Given the description of an element on the screen output the (x, y) to click on. 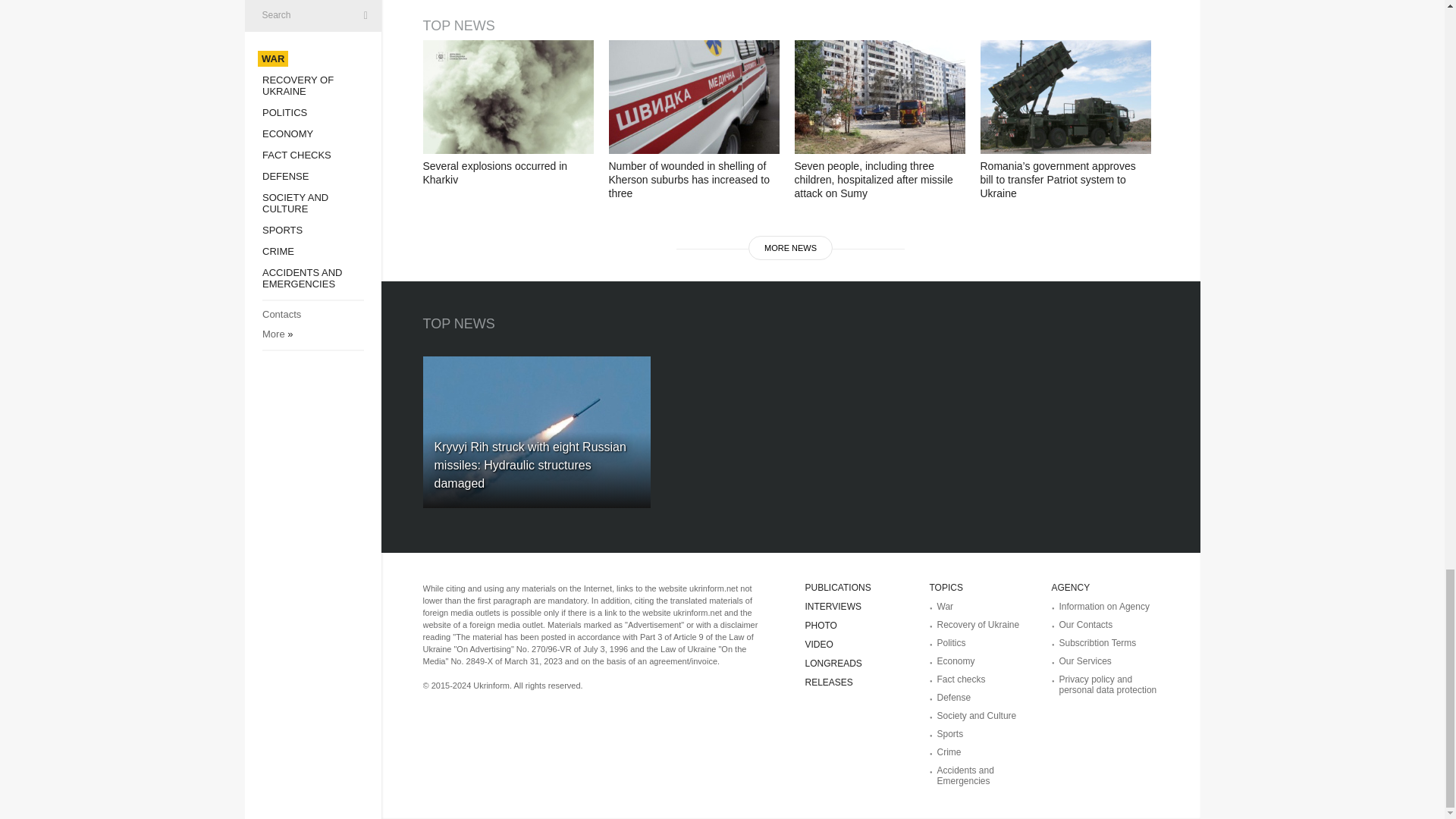
Several explosions occurred in Kharkiv (508, 96)
